Given the description of an element on the screen output the (x, y) to click on. 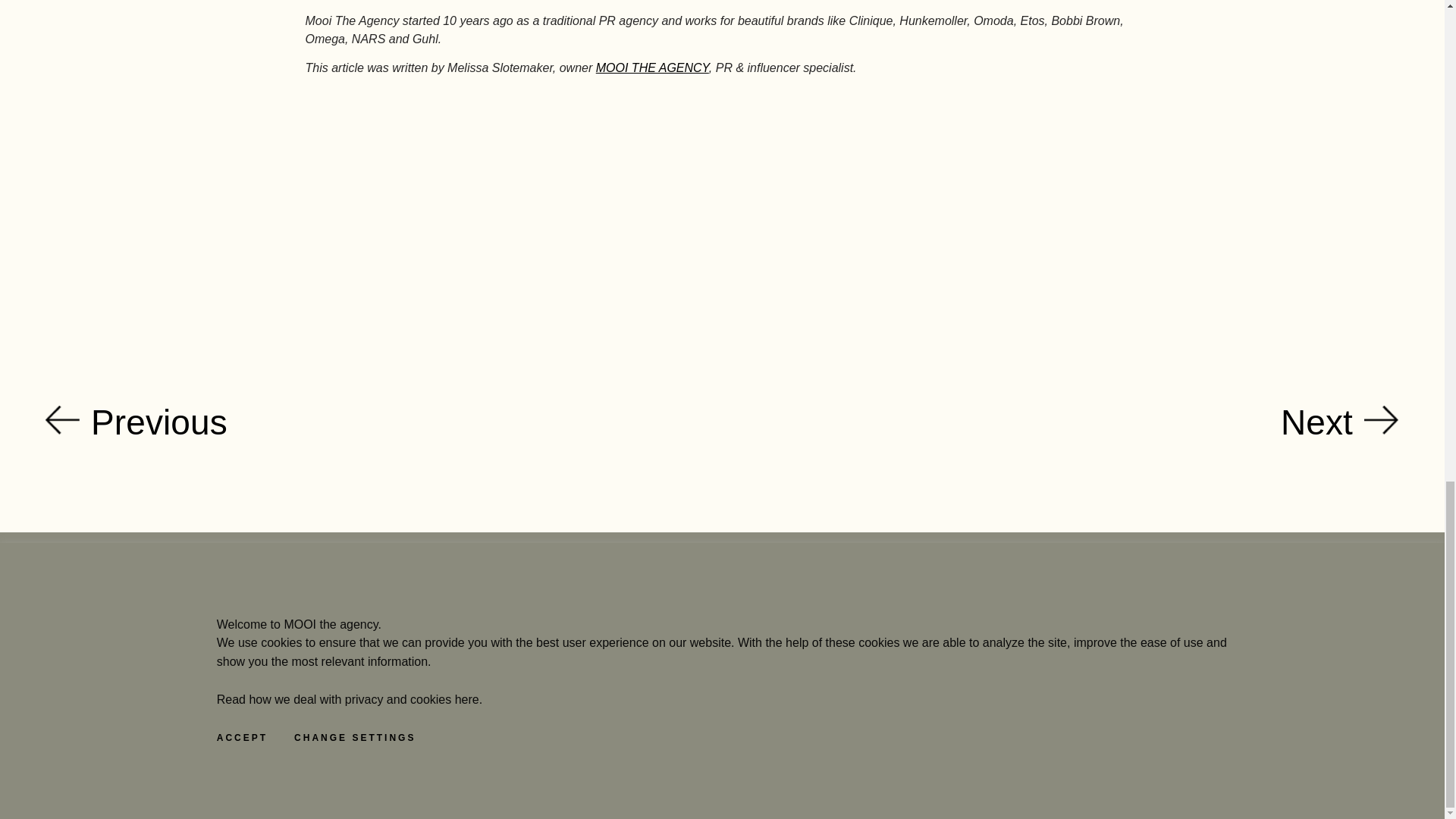
Previous (383, 422)
Next (1059, 422)
Privacy policy (951, 615)
MOOI THE AGENCY (652, 67)
